Given the description of an element on the screen output the (x, y) to click on. 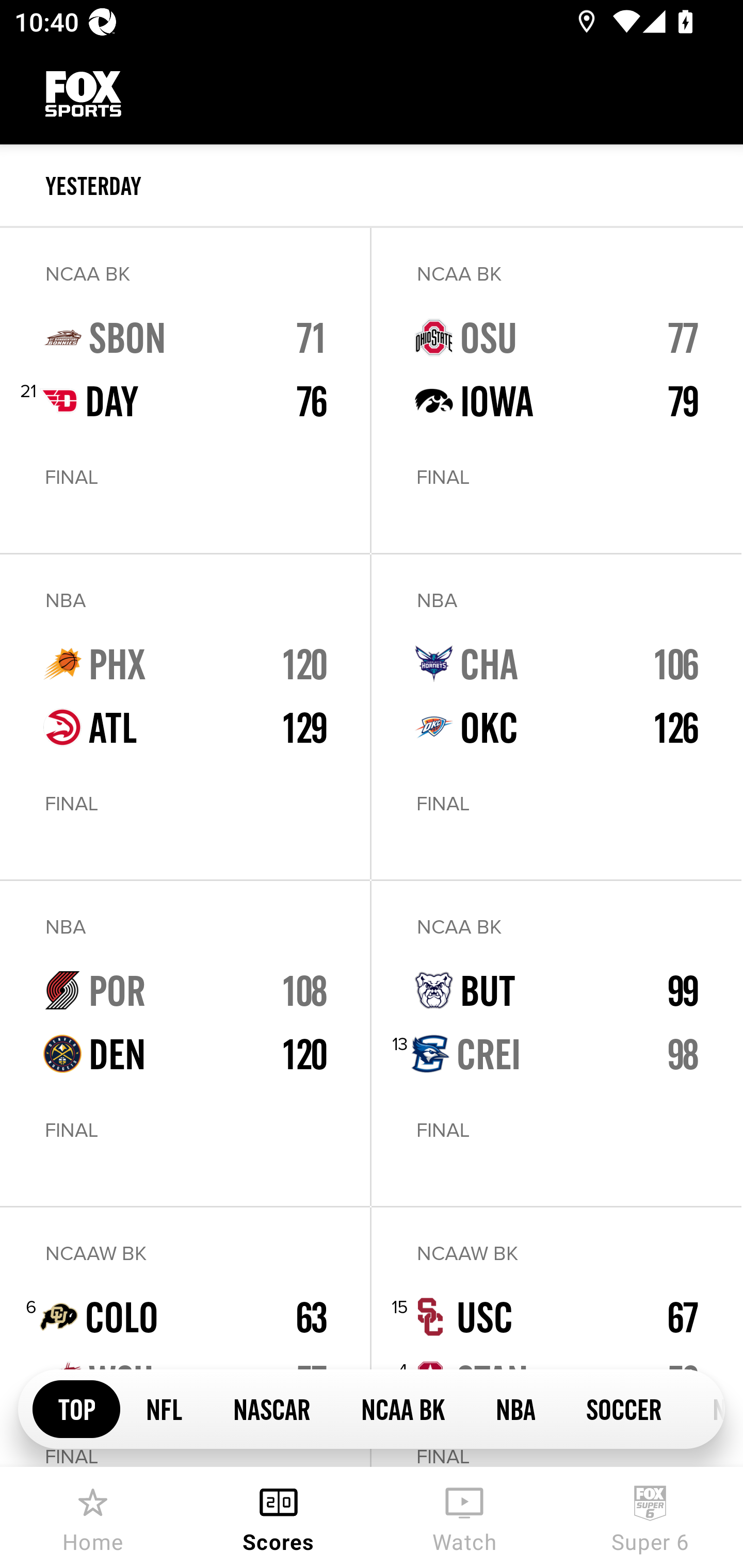
YESTERDAY (394, 185)
NCAA BK SBON 71 21 DAY 76 FINAL (185, 390)
NCAA BK OSU 77 IOWA 79 FINAL (556, 390)
NBA PHX 120 ATL 129 FINAL (185, 717)
NBA CHA 106 OKC 126 FINAL (556, 717)
NBA POR 108 DEN 120 FINAL (185, 1043)
NCAA BK BUT 99 13 CREI 98 FINAL (556, 1043)
NCAAW BK 6 COLO 63 WSU 57 FINAL (185, 1337)
NCAAW BK 15 USC 67 4 STAN 58 FINAL (556, 1337)
NFL (163, 1408)
NASCAR (271, 1408)
NCAA BK (402, 1408)
NBA (515, 1408)
SOCCER (623, 1408)
Home (92, 1517)
Watch (464, 1517)
Super 6 (650, 1517)
